Given the description of an element on the screen output the (x, y) to click on. 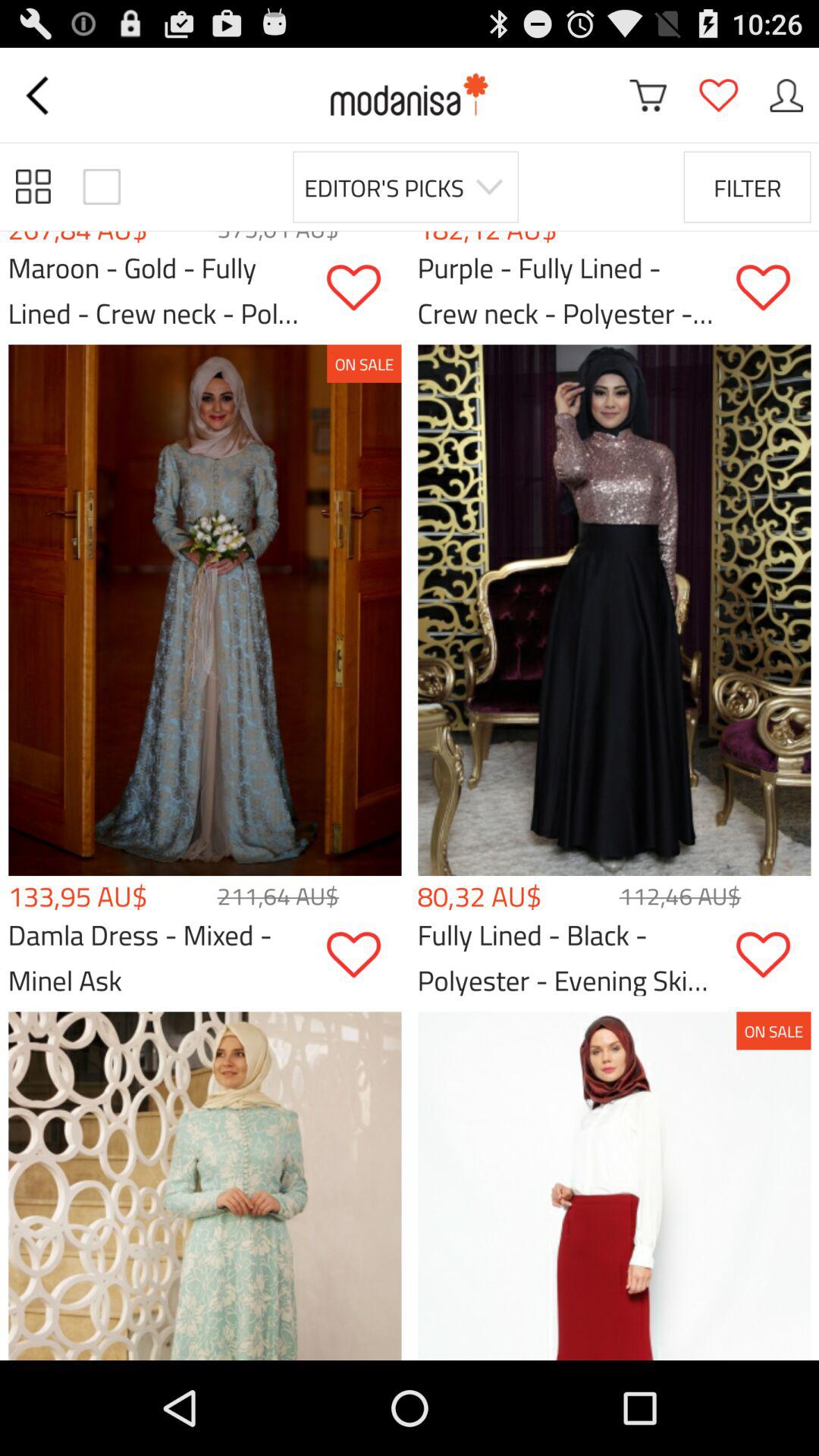
tray again (786, 95)
